Given the description of an element on the screen output the (x, y) to click on. 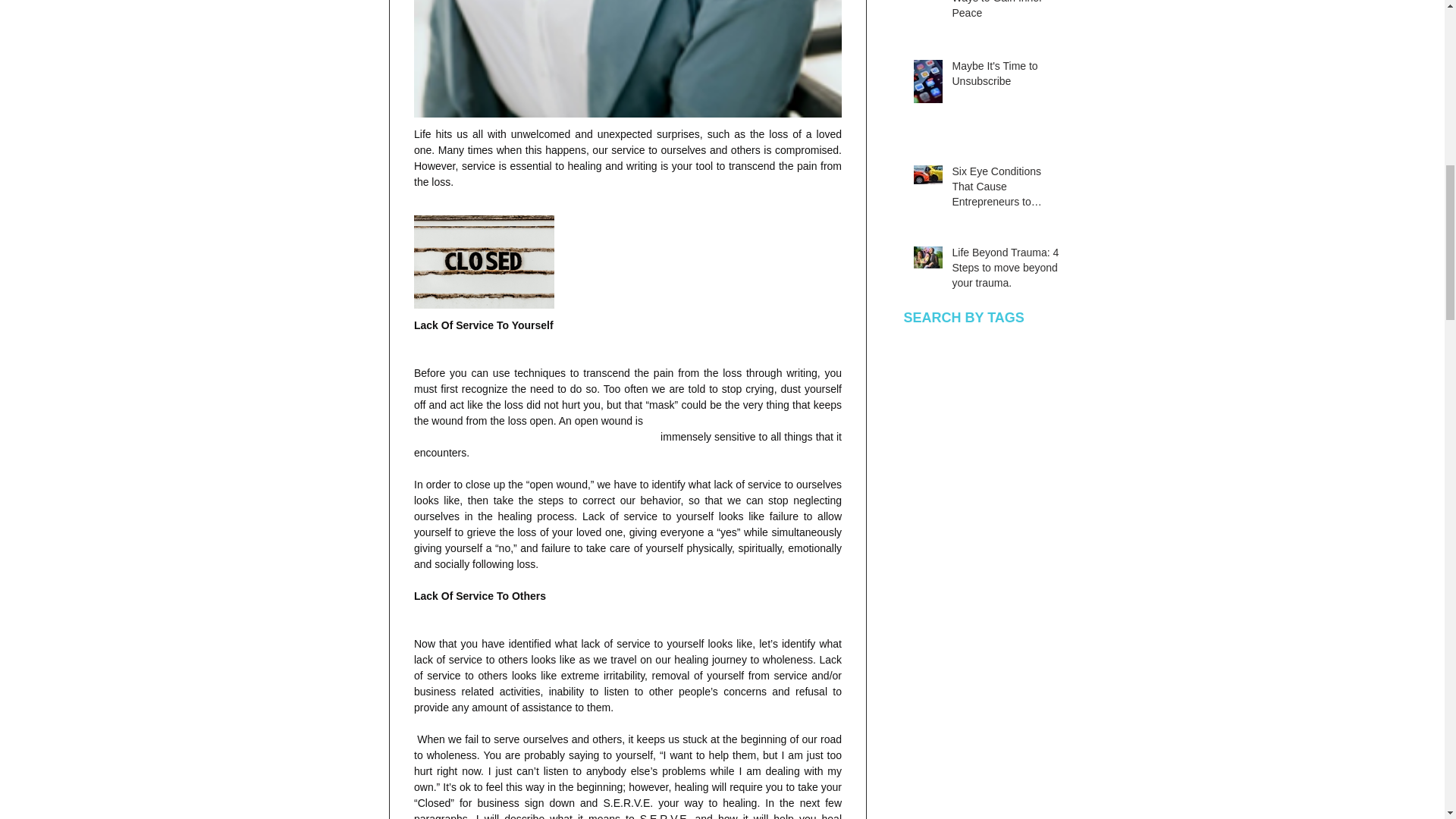
Maybe It's Time to Unsubscribe (1006, 76)
Betrayal is Hard: 4 Ways to Gain Inner Peace (1006, 13)
Life Beyond Trauma: 4 Steps to move beyond your trauma. (1006, 270)
